Given the description of an element on the screen output the (x, y) to click on. 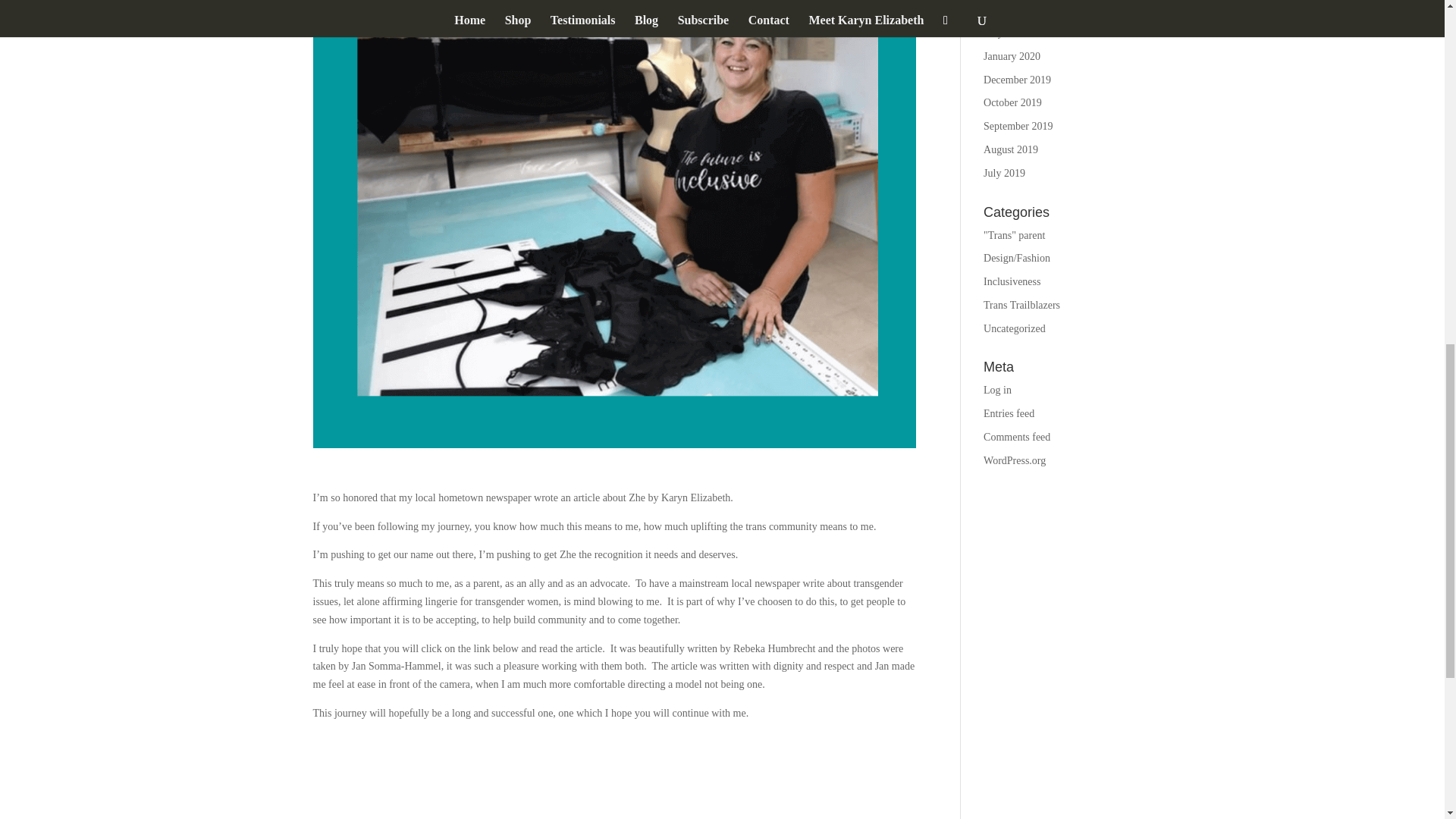
May 2020 (1005, 32)
June 2020 (1005, 9)
December 2019 (1017, 79)
January 2020 (1012, 56)
